Given the description of an element on the screen output the (x, y) to click on. 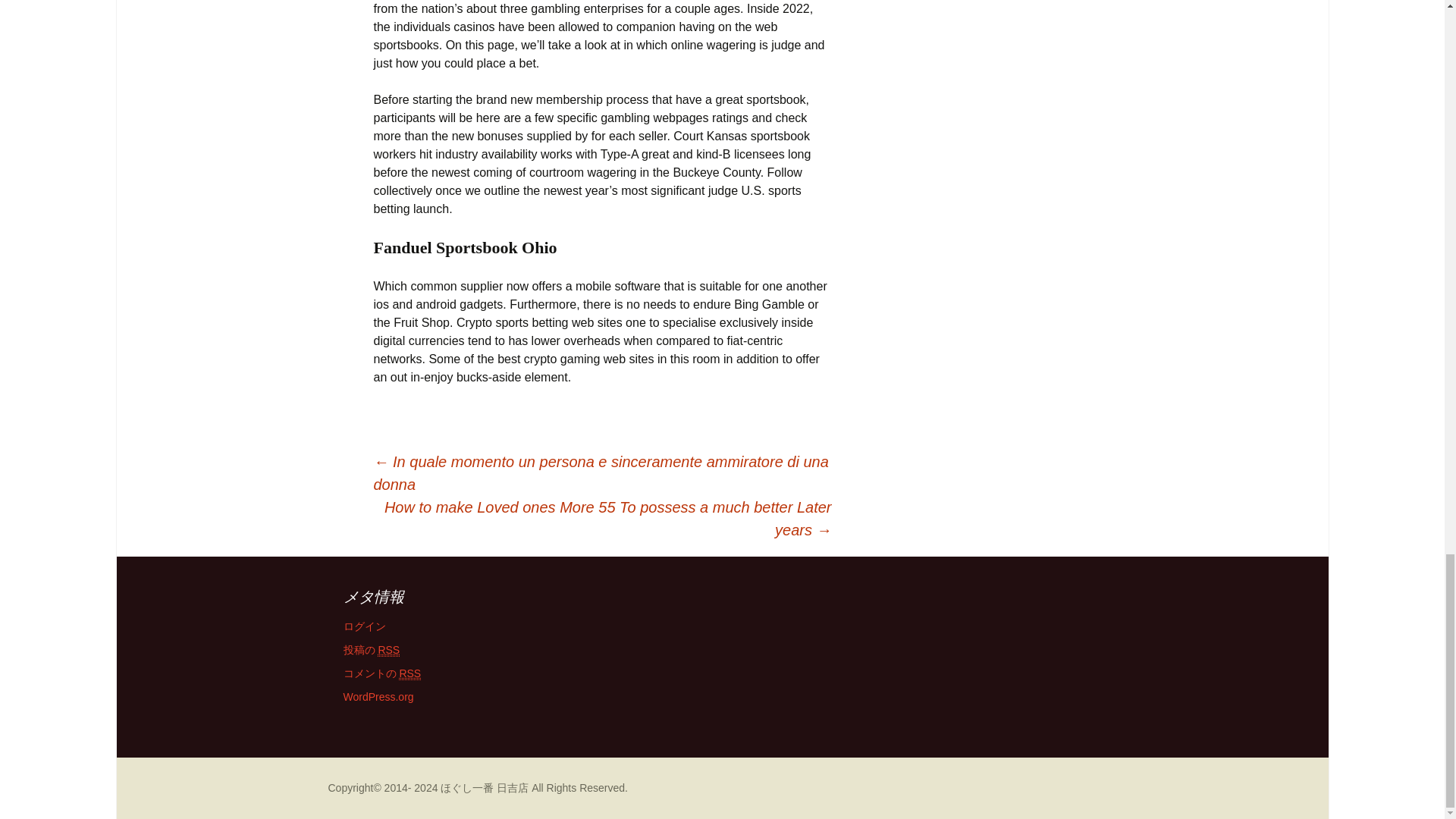
Really Simple Syndication (387, 649)
WordPress.org (377, 696)
Really Simple Syndication (409, 673)
